Given the description of an element on the screen output the (x, y) to click on. 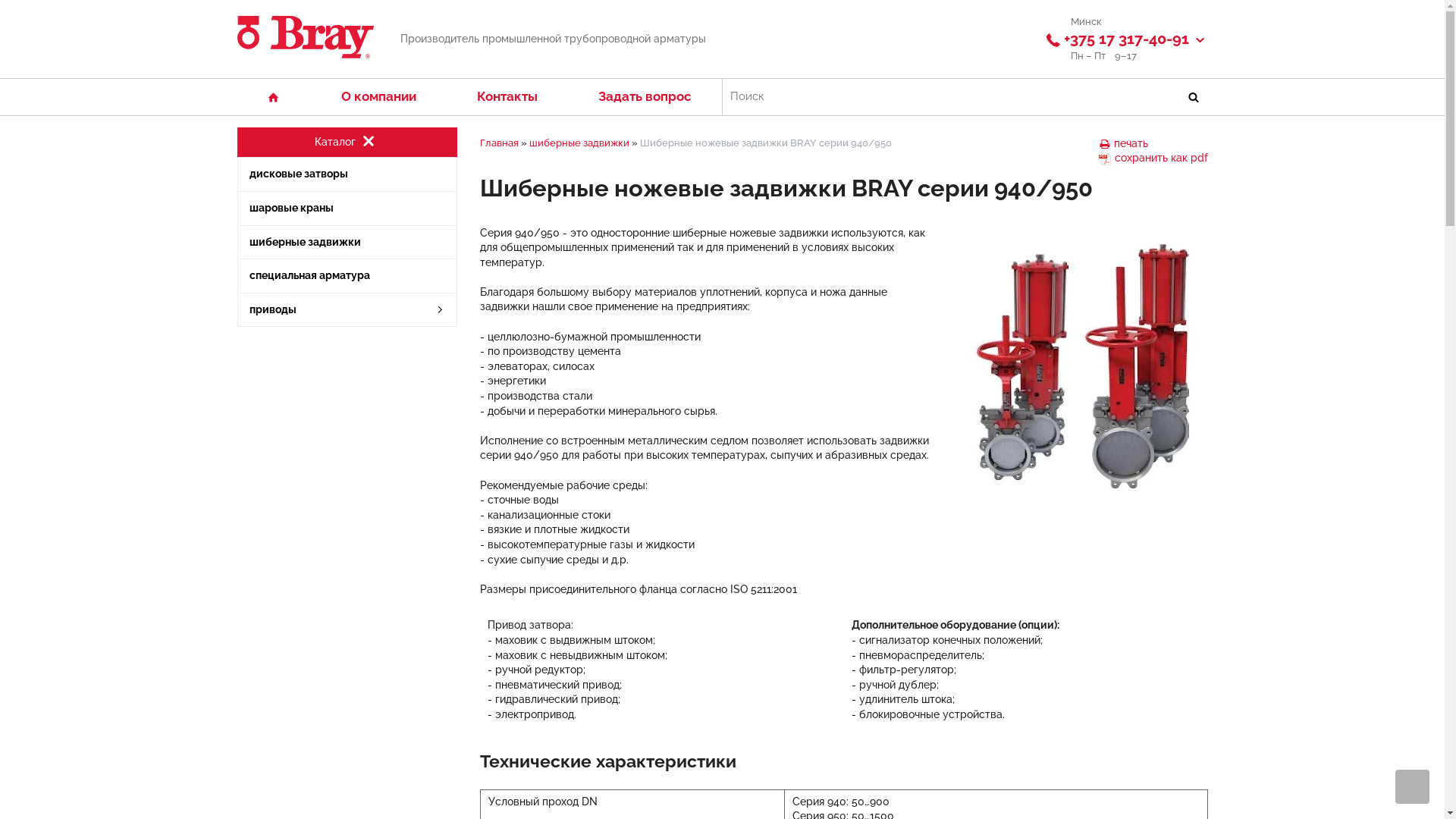
+375 17 317-40-91 Element type: text (1125, 38)
